Given the description of an element on the screen output the (x, y) to click on. 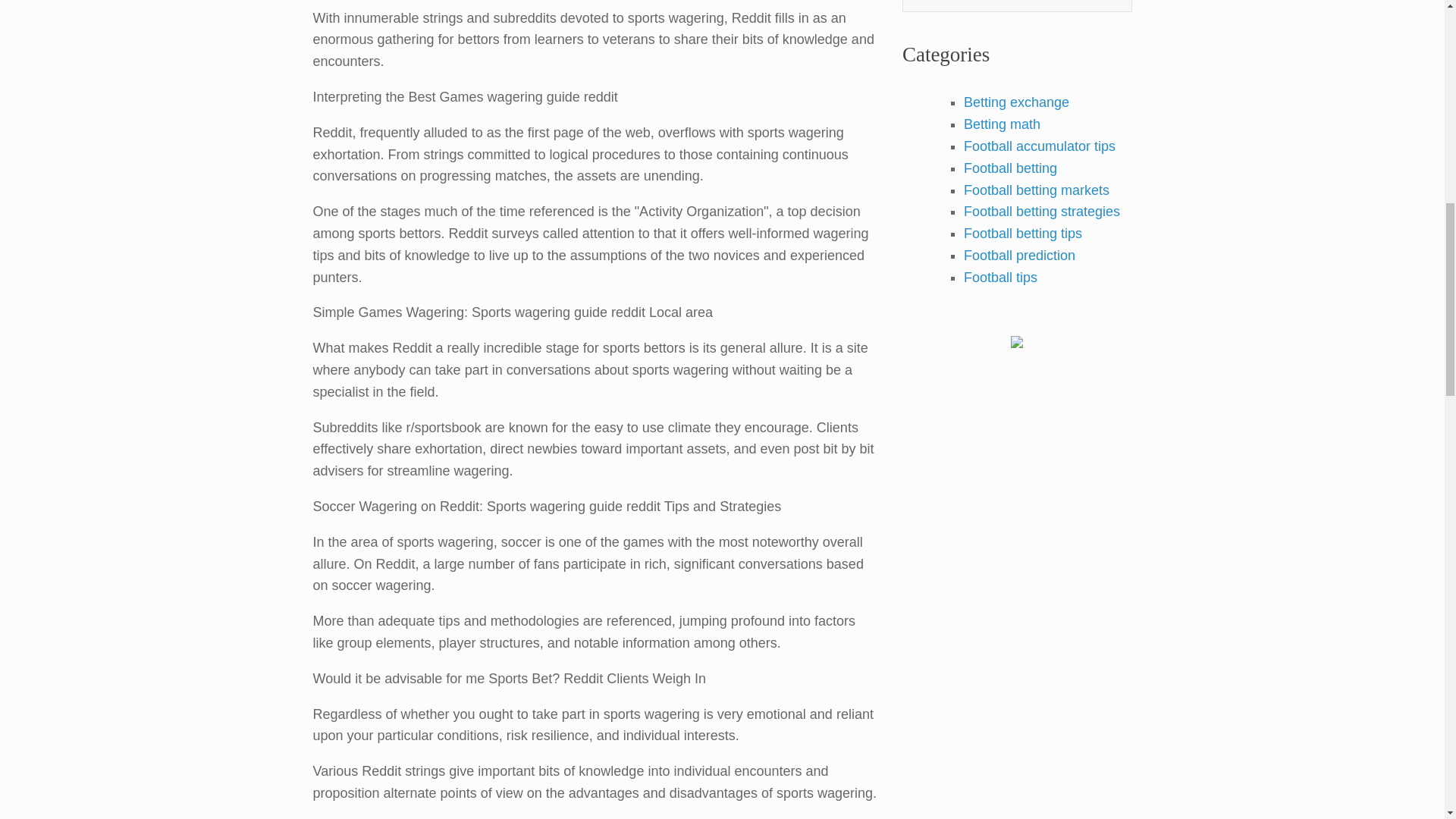
Betting math (1002, 124)
Football betting strategies (1041, 211)
Football betting tips (1022, 233)
Football betting (1010, 168)
Betting exchange (1015, 102)
Football prediction (1019, 255)
Football betting markets (1036, 190)
Football tips (999, 277)
Football accumulator tips (1039, 145)
